Given the description of an element on the screen output the (x, y) to click on. 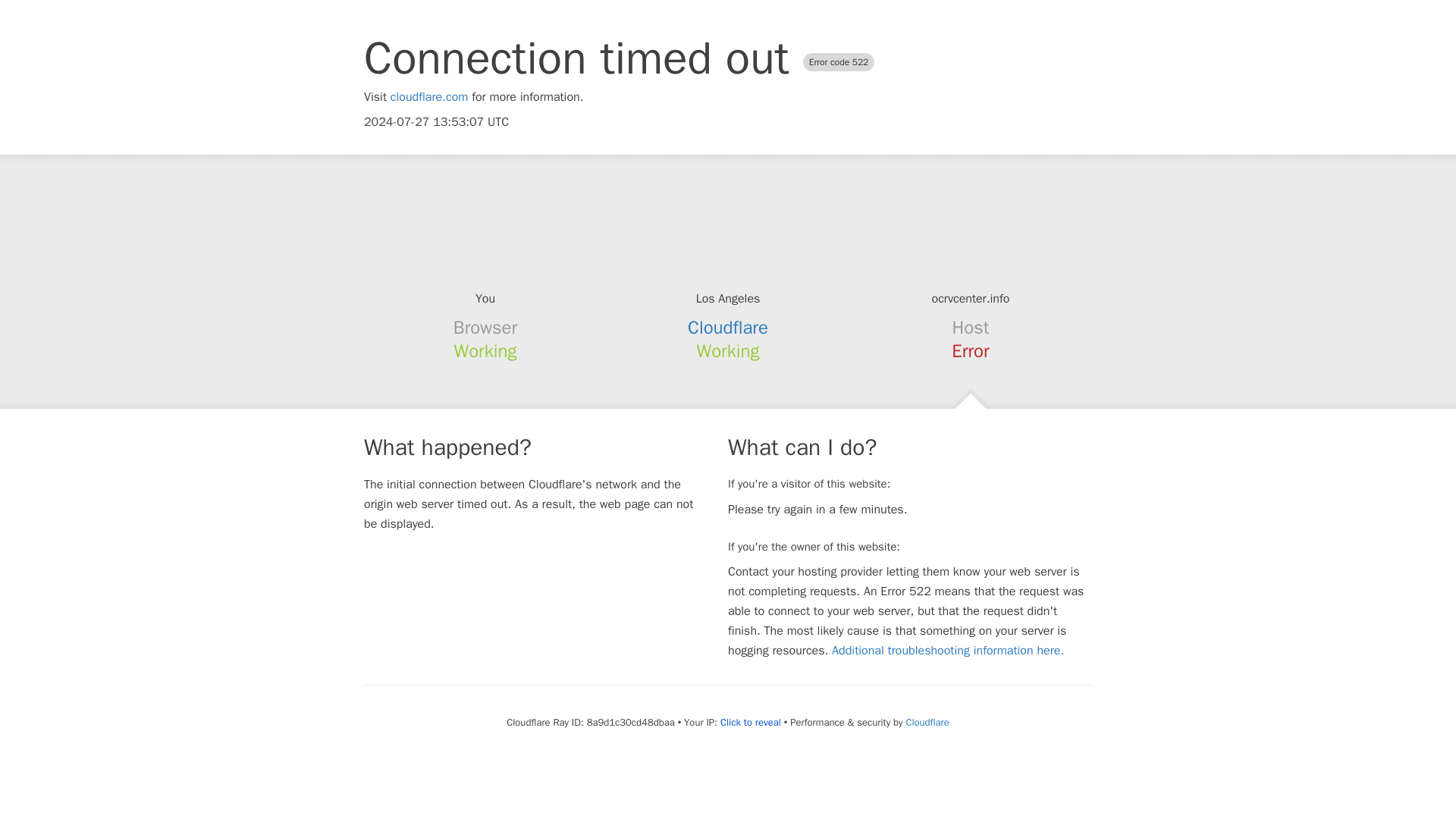
Cloudflare (727, 327)
Click to reveal (750, 722)
cloudflare.com (429, 96)
Additional troubleshooting information here. (947, 650)
Cloudflare (927, 721)
